Given the description of an element on the screen output the (x, y) to click on. 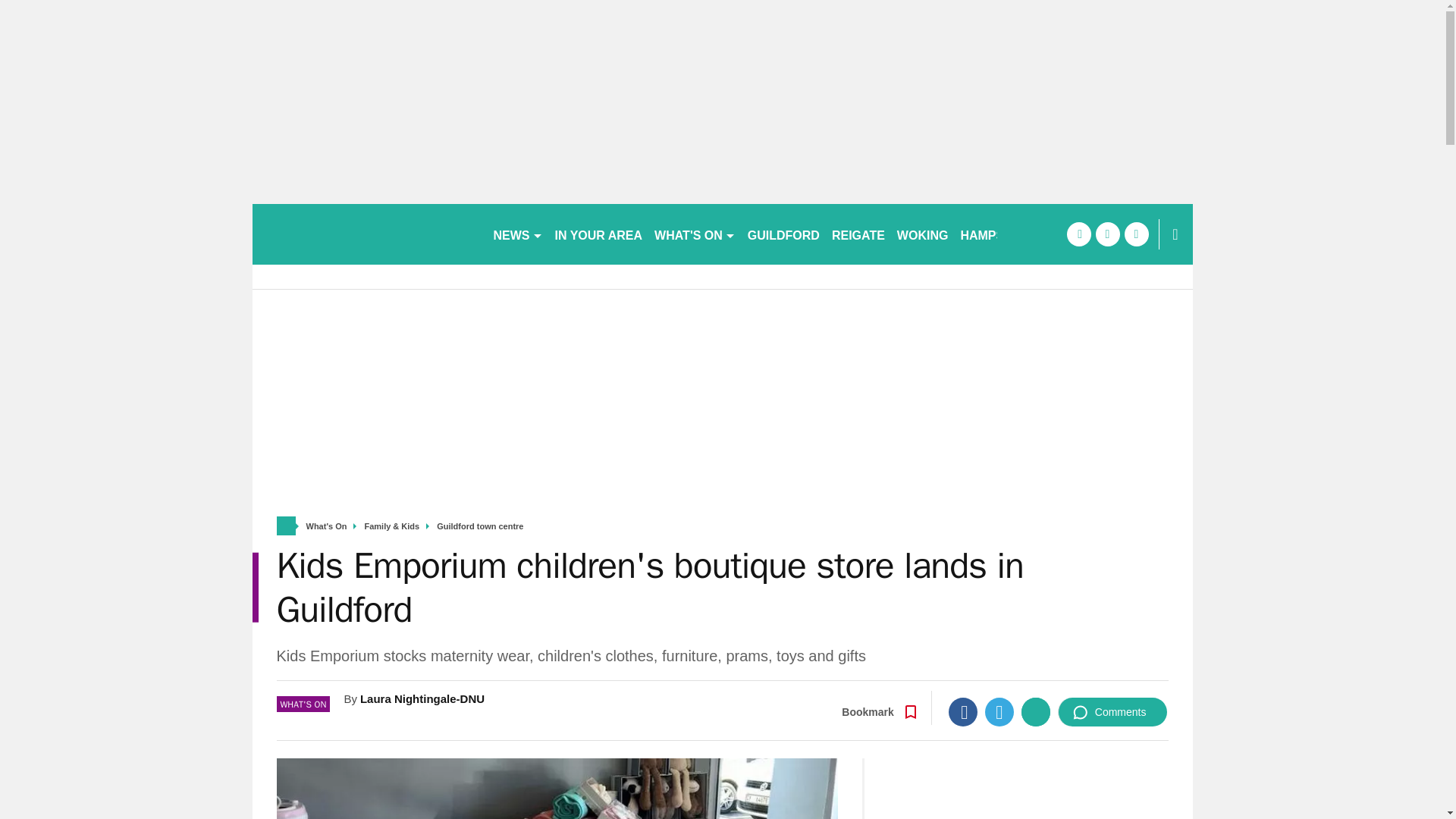
HAMPSHIRE (996, 233)
NEWS (517, 233)
facebook (1077, 233)
WHAT'S ON (694, 233)
REIGATE (858, 233)
getsurrey (365, 233)
GUILDFORD (783, 233)
twitter (1106, 233)
WOKING (923, 233)
Comments (1112, 711)
IN YOUR AREA (598, 233)
Facebook (962, 711)
Twitter (999, 711)
instagram (1136, 233)
